Given the description of an element on the screen output the (x, y) to click on. 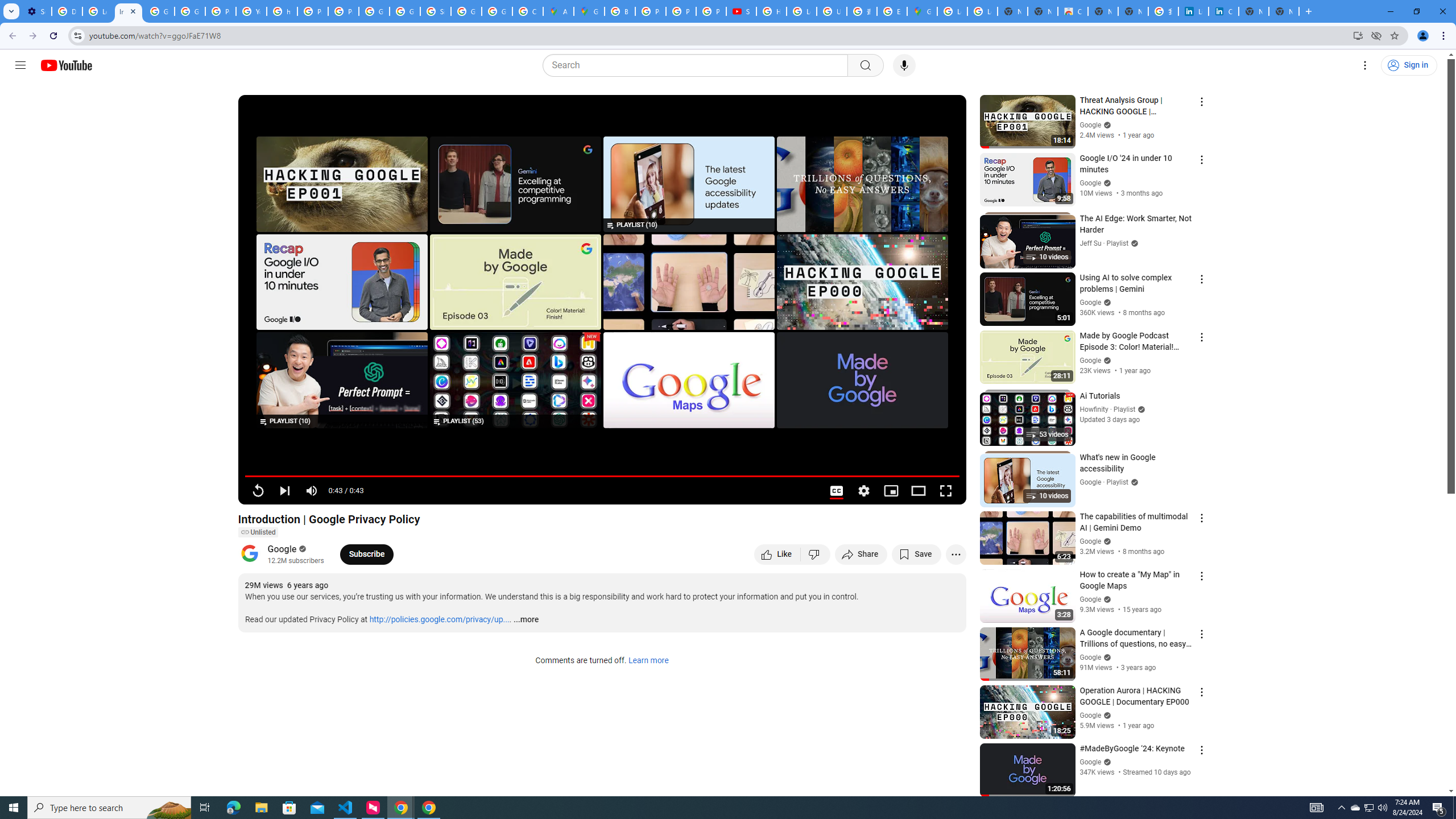
Google (282, 548)
Learn more (647, 661)
How Chrome protects your passwords - Google Chrome Help (771, 11)
Subscribe to Google. (366, 554)
Privacy Help Center - Policies Help (312, 11)
Seek slider (601, 476)
LinkedIn Login, Sign in | LinkedIn (1193, 11)
